Given the description of an element on the screen output the (x, y) to click on. 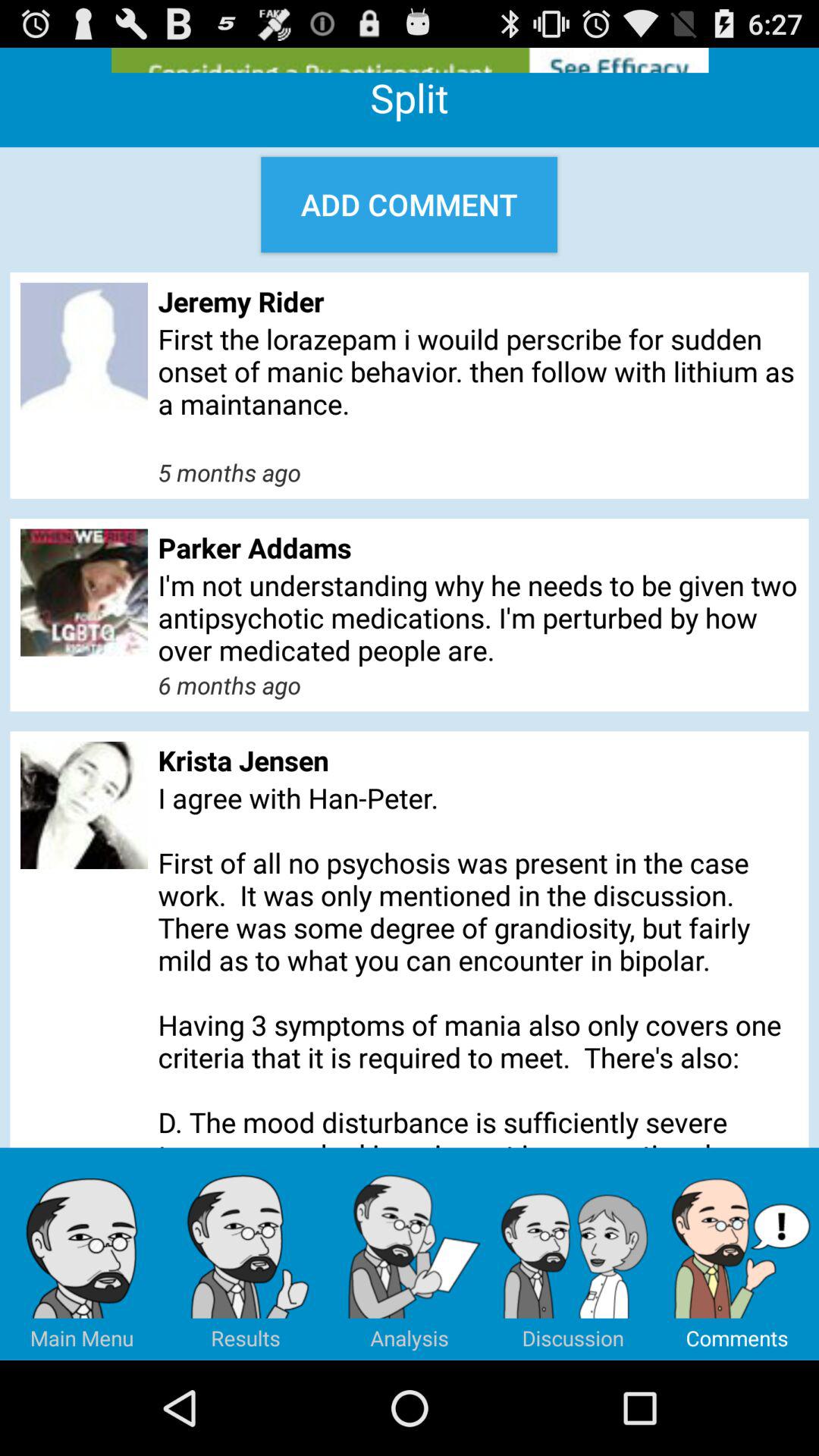
press the jeremy rider icon (478, 301)
